Given the description of an element on the screen output the (x, y) to click on. 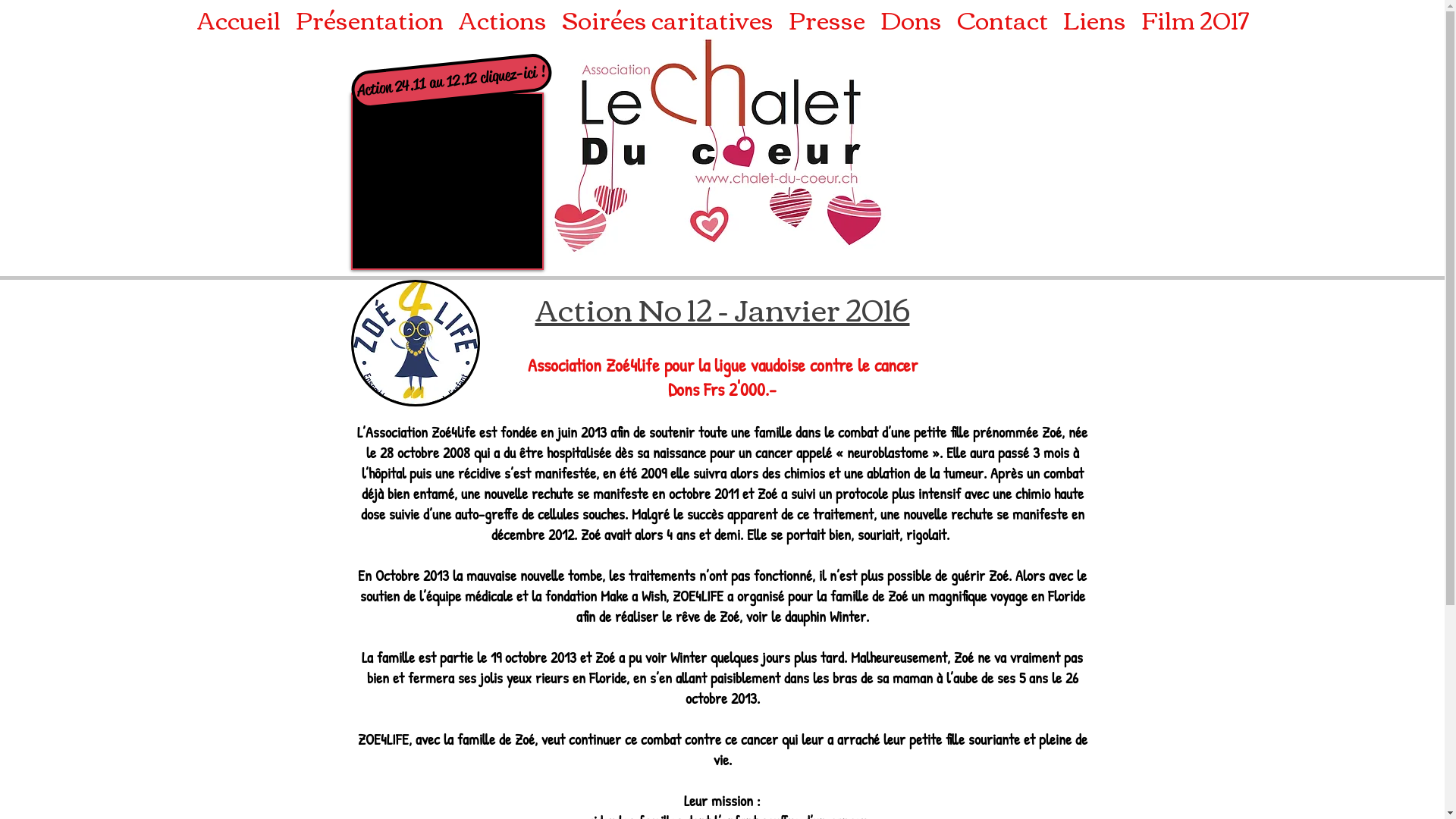
Action 24.11 au 12.12 cliquez-ici ! Element type: text (449, 71)
Dons Element type: text (910, 18)
Actions Element type: text (501, 18)
Presse Element type: text (826, 18)
Liens Element type: text (1094, 18)
Film 2017 Element type: text (1193, 18)
Contact Element type: text (1002, 18)
Accueil Element type: text (238, 18)
